Given the description of an element on the screen output the (x, y) to click on. 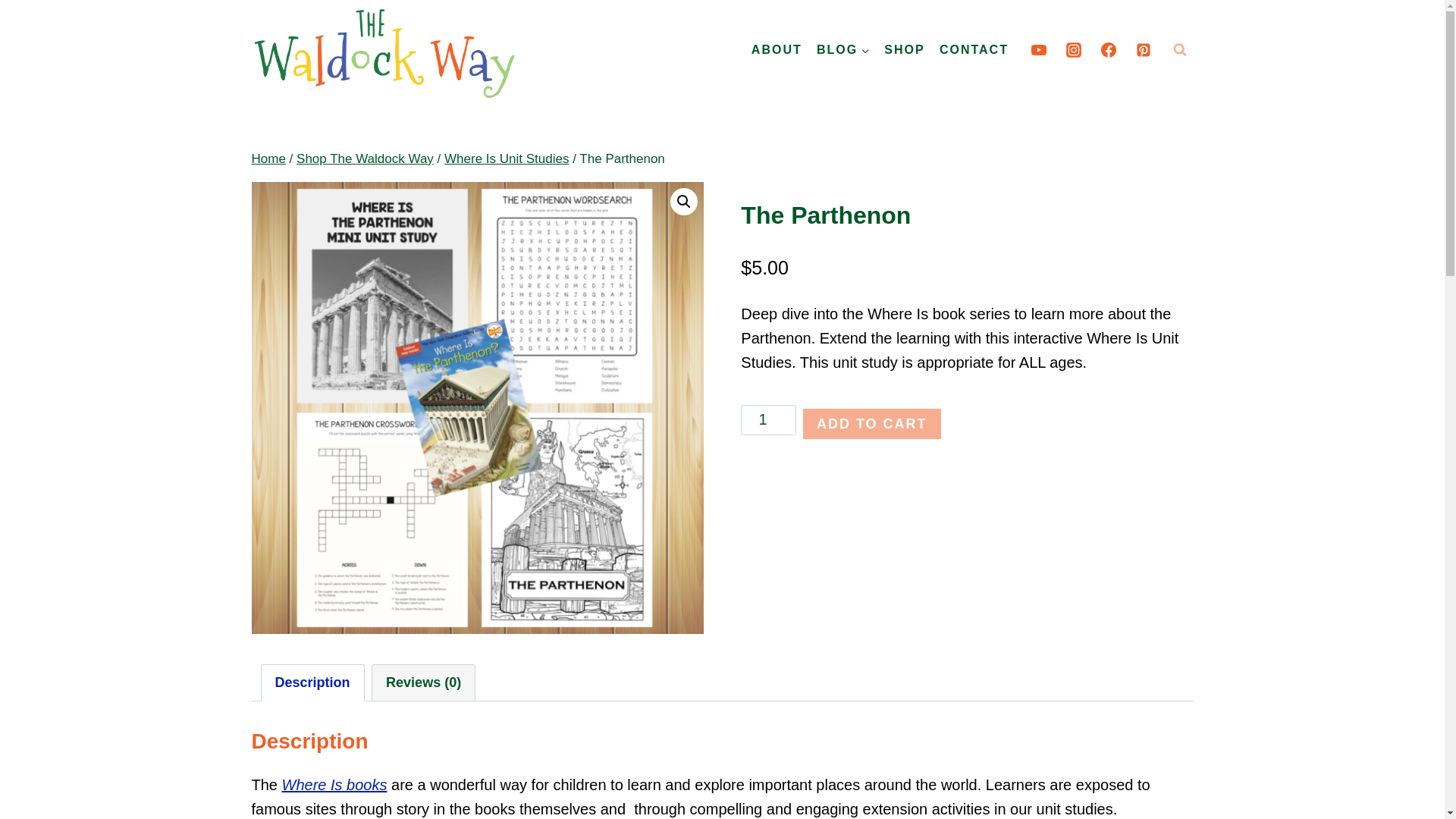
SHOP (905, 49)
1 (768, 419)
Shop The Waldock Way (365, 158)
Description (311, 683)
Where Is Unit Studies (506, 158)
Home (268, 158)
CONTACT (972, 49)
ADD TO CART (871, 423)
ABOUT (776, 49)
Where Is books (334, 784)
BLOG (842, 49)
